Given the description of an element on the screen output the (x, y) to click on. 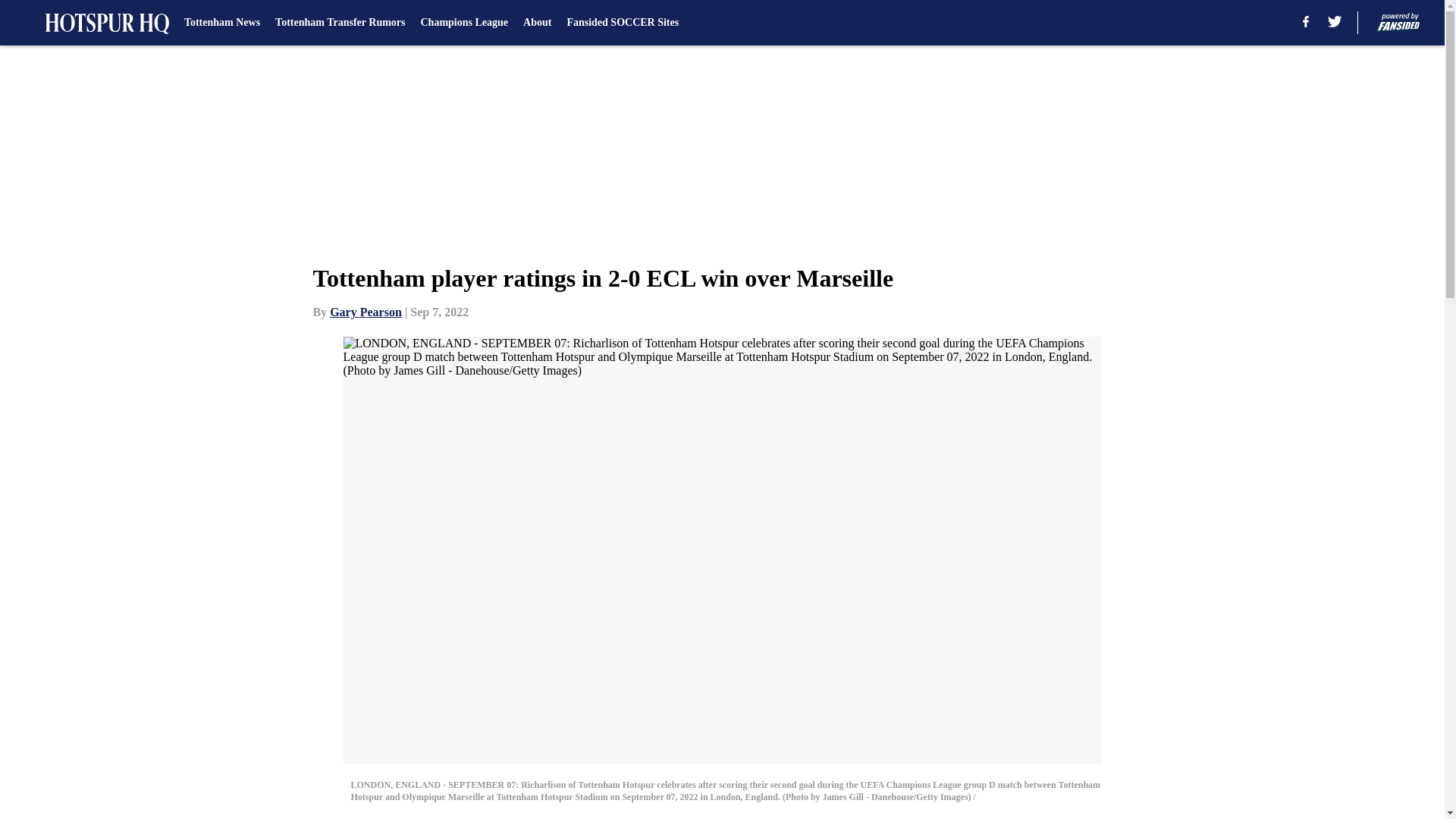
About (536, 22)
Champions League (464, 22)
Tottenham News (222, 22)
Tottenham Transfer Rumors (339, 22)
Gary Pearson (365, 311)
Fansided SOCCER Sites (622, 22)
